Given the description of an element on the screen output the (x, y) to click on. 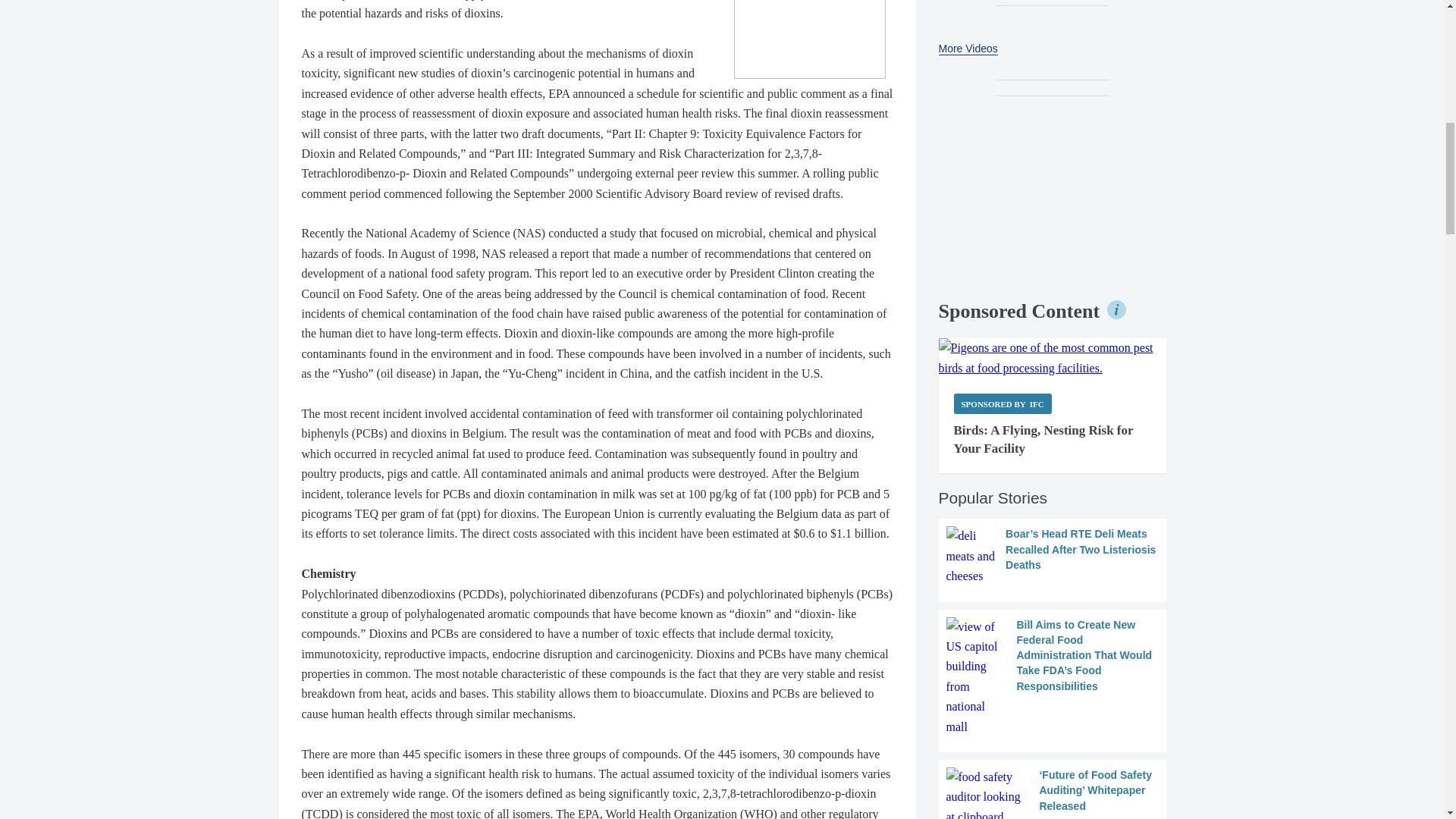
Sponsored by IFC (1002, 403)
